Given the description of an element on the screen output the (x, y) to click on. 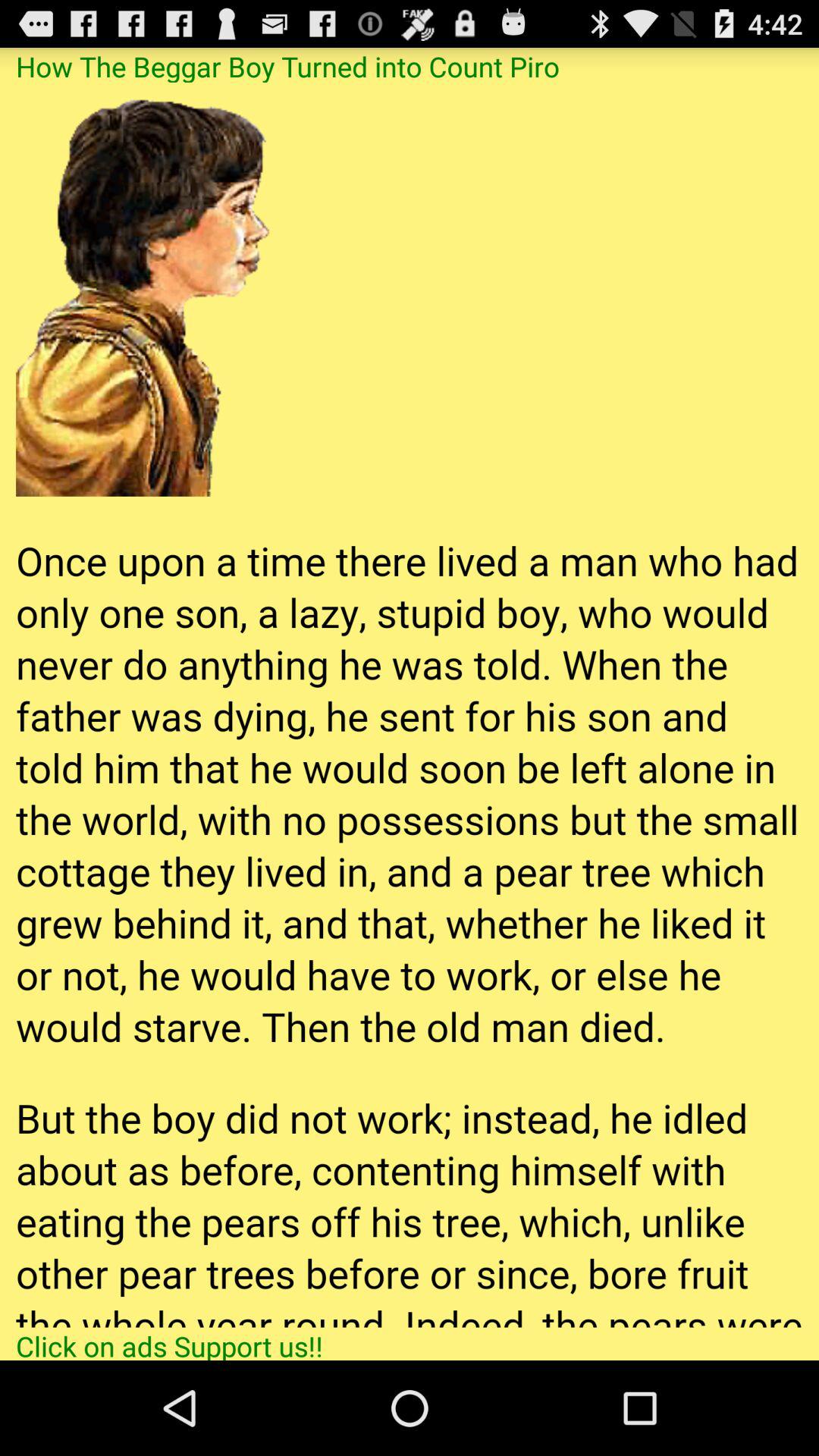
scroll the page (409, 704)
